Given the description of an element on the screen output the (x, y) to click on. 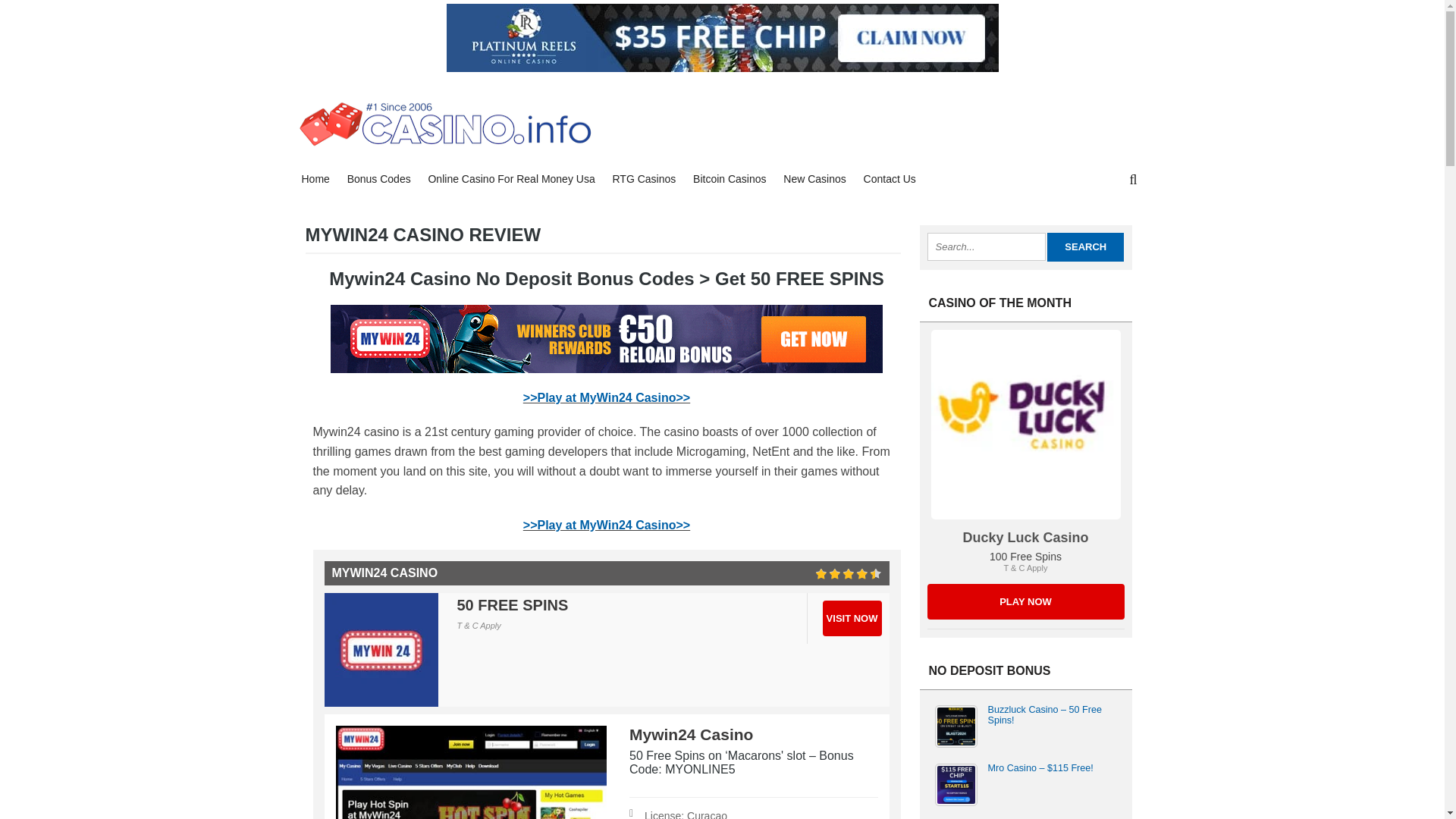
Ducky Luck Casino (1024, 537)
Search (1085, 246)
Bonus Codes (378, 178)
Home (315, 178)
Ducky Luck Casino (1025, 601)
Bitcoin Casinos (730, 178)
MYwin24 Casino (606, 338)
Search (1085, 246)
Ducky Luck Casino (1025, 424)
RTG Casinos (643, 178)
Online Casino For Real Money Usa (511, 178)
Contact Us (889, 178)
New Casinos (814, 178)
